Given the description of an element on the screen output the (x, y) to click on. 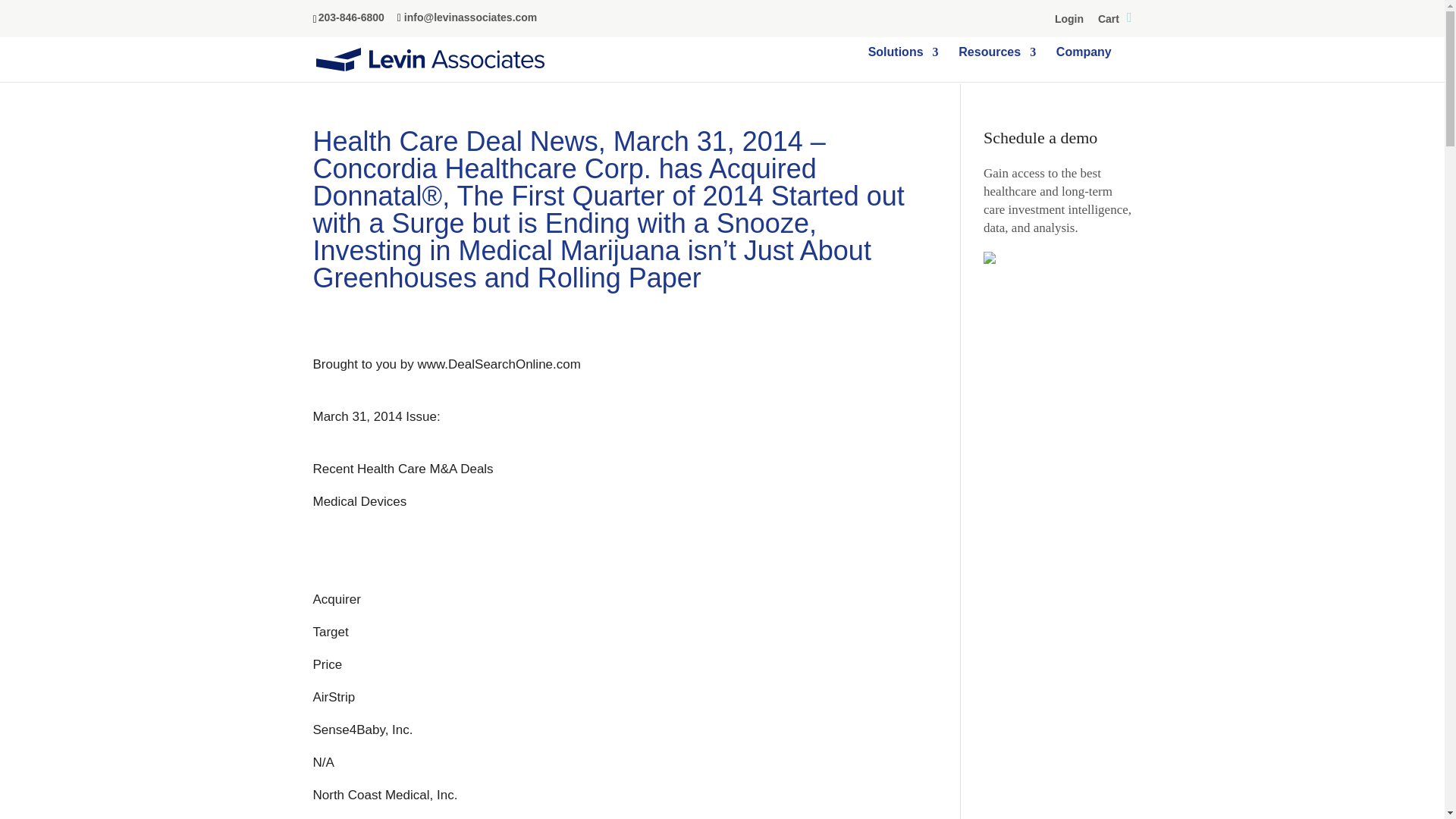
Company (1084, 63)
Solutions (903, 63)
Cart (1114, 21)
Resources (996, 63)
Login (1068, 21)
